Given the description of an element on the screen output the (x, y) to click on. 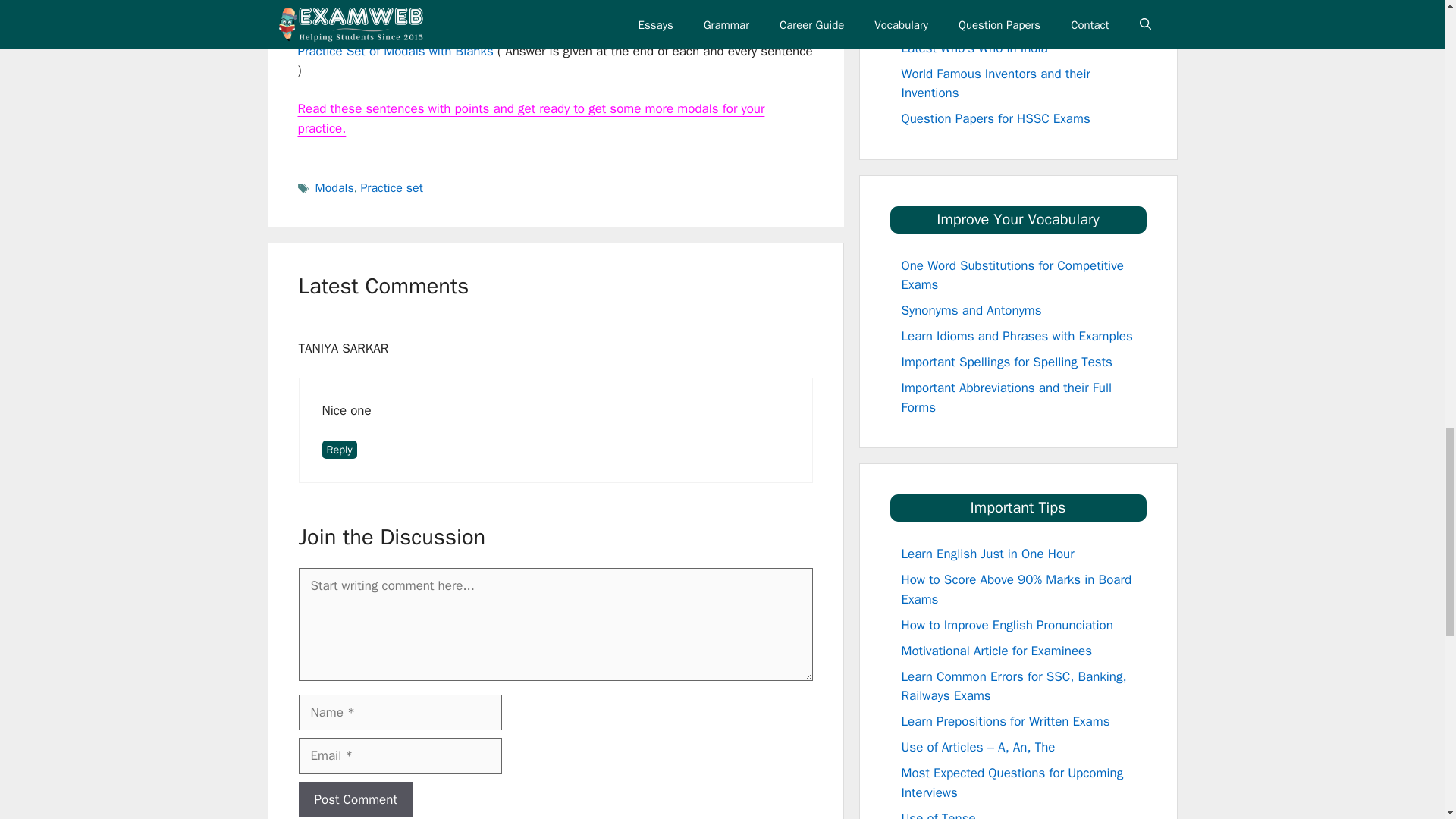
Reply (338, 449)
Post Comment (355, 800)
Modals (334, 187)
Practice set (390, 187)
Post Comment (355, 800)
Practice Set of Modals with Blanks (395, 50)
